Given the description of an element on the screen output the (x, y) to click on. 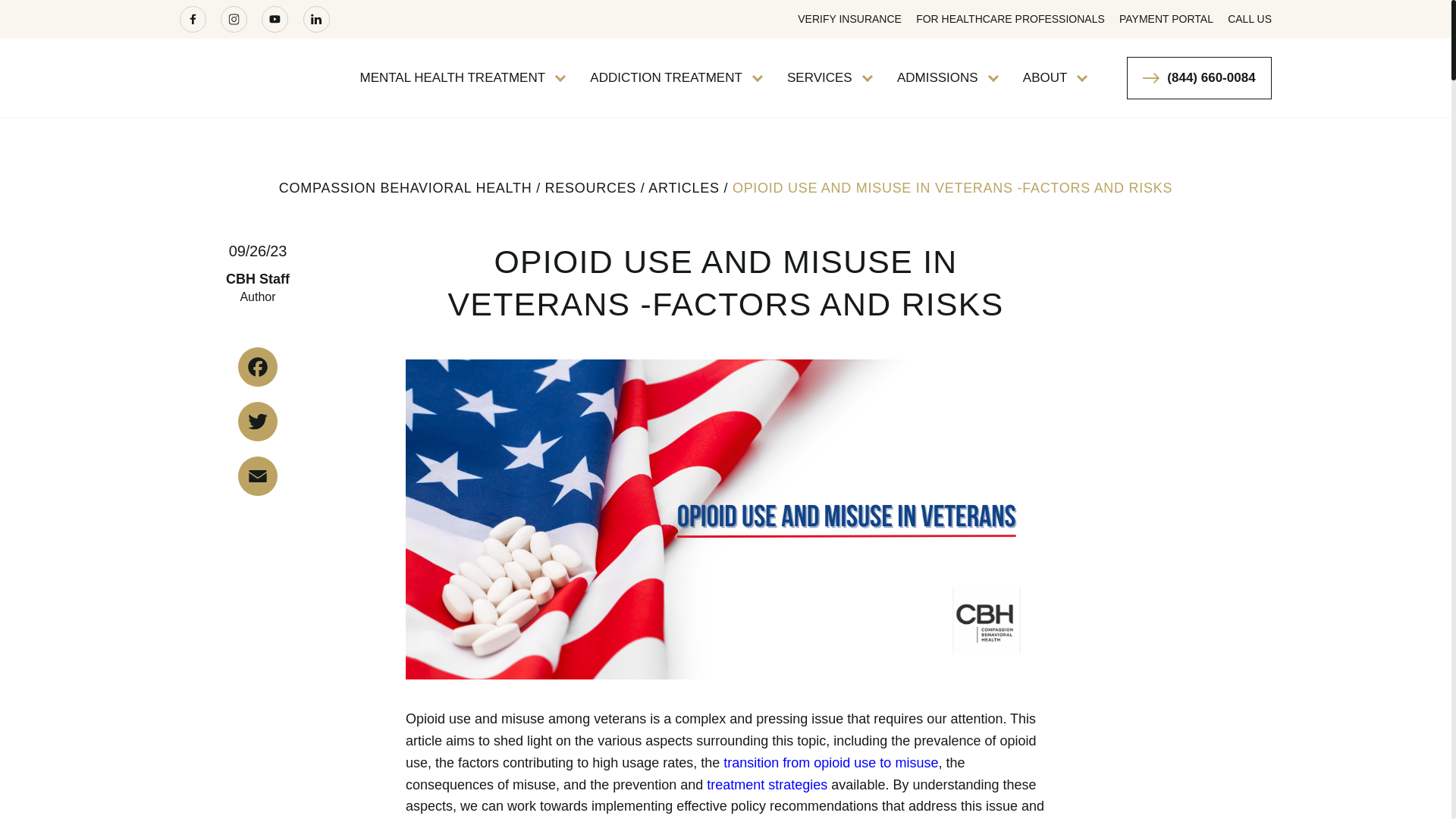
PAYMENT PORTAL (1165, 19)
CALL US (1249, 19)
FOR HEALTHCARE PROFESSIONALS (1010, 19)
Facebook (257, 366)
Go to Resources. (590, 187)
VERIFY INSURANCE (849, 19)
Email (257, 476)
Go to Compassion Behavioral Health. (405, 187)
Twitter (257, 421)
ADDICTION TREATMENT (674, 77)
MENTAL HEALTH TREATMENT (460, 77)
Go to the Articles Category archives. (683, 187)
